Given the description of an element on the screen output the (x, y) to click on. 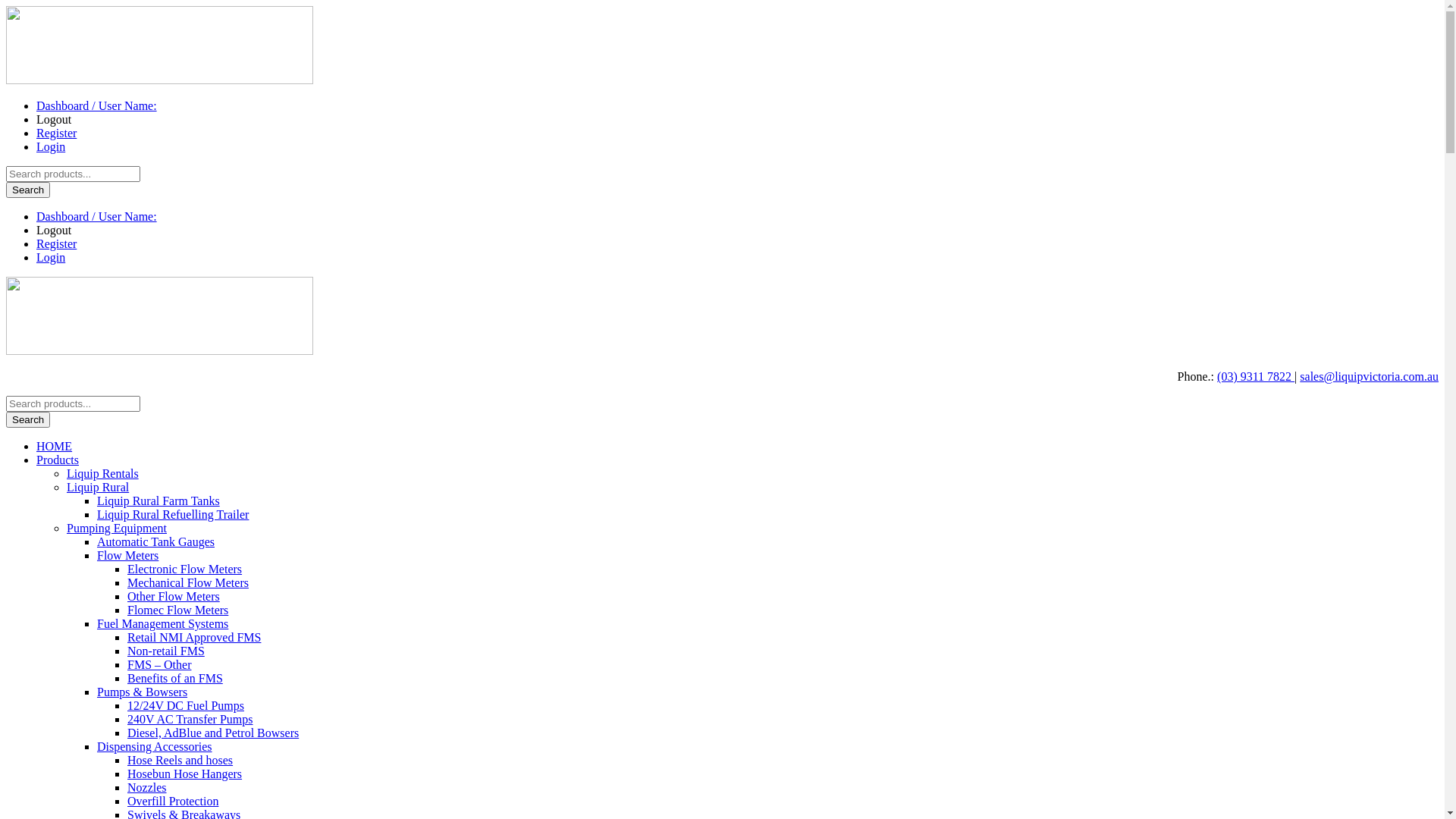
Liquip Rural Element type: text (97, 486)
Flomec Flow Meters Element type: text (177, 609)
Login Element type: text (50, 257)
Flow Meters Element type: text (127, 555)
Dashboard / User Name: Element type: text (96, 216)
Diesel, AdBlue and Petrol Bowsers Element type: text (212, 732)
Login Element type: text (50, 146)
Mechanical Flow Meters Element type: text (187, 582)
HOME Element type: text (54, 445)
Retail NMI Approved FMS Element type: text (193, 636)
Other Flow Meters Element type: text (173, 595)
Logout Element type: text (53, 118)
Dashboard / User Name: Element type: text (96, 105)
(03) 9311 7822 Element type: text (1255, 376)
Liquip Rentals Element type: text (102, 473)
Liquip Rural Farm Tanks Element type: text (158, 500)
Search Element type: text (28, 189)
Benefits of an FMS Element type: text (174, 677)
Register Element type: text (56, 243)
Automatic Tank Gauges Element type: text (155, 541)
Pumps & Bowsers Element type: text (142, 691)
12/24V DC Fuel Pumps Element type: text (185, 705)
Dispensing Accessories Element type: text (154, 746)
Hosebun Hose Hangers Element type: text (184, 773)
Logout Element type: text (53, 229)
sales@liquipvictoria.com.au Element type: text (1368, 376)
Register Element type: text (56, 132)
Search Element type: text (28, 419)
Fuel Management Systems Element type: text (162, 623)
Overfill Protection Element type: text (172, 800)
Liquip Rural Refuelling Trailer Element type: text (172, 514)
Hose Reels and hoses Element type: text (179, 759)
Non-retail FMS Element type: text (165, 650)
240V AC Transfer Pumps Element type: text (190, 718)
Products Element type: text (57, 459)
Nozzles Element type: text (146, 787)
Pumping Equipment Element type: text (116, 527)
Electronic Flow Meters Element type: text (184, 568)
